Given the description of an element on the screen output the (x, y) to click on. 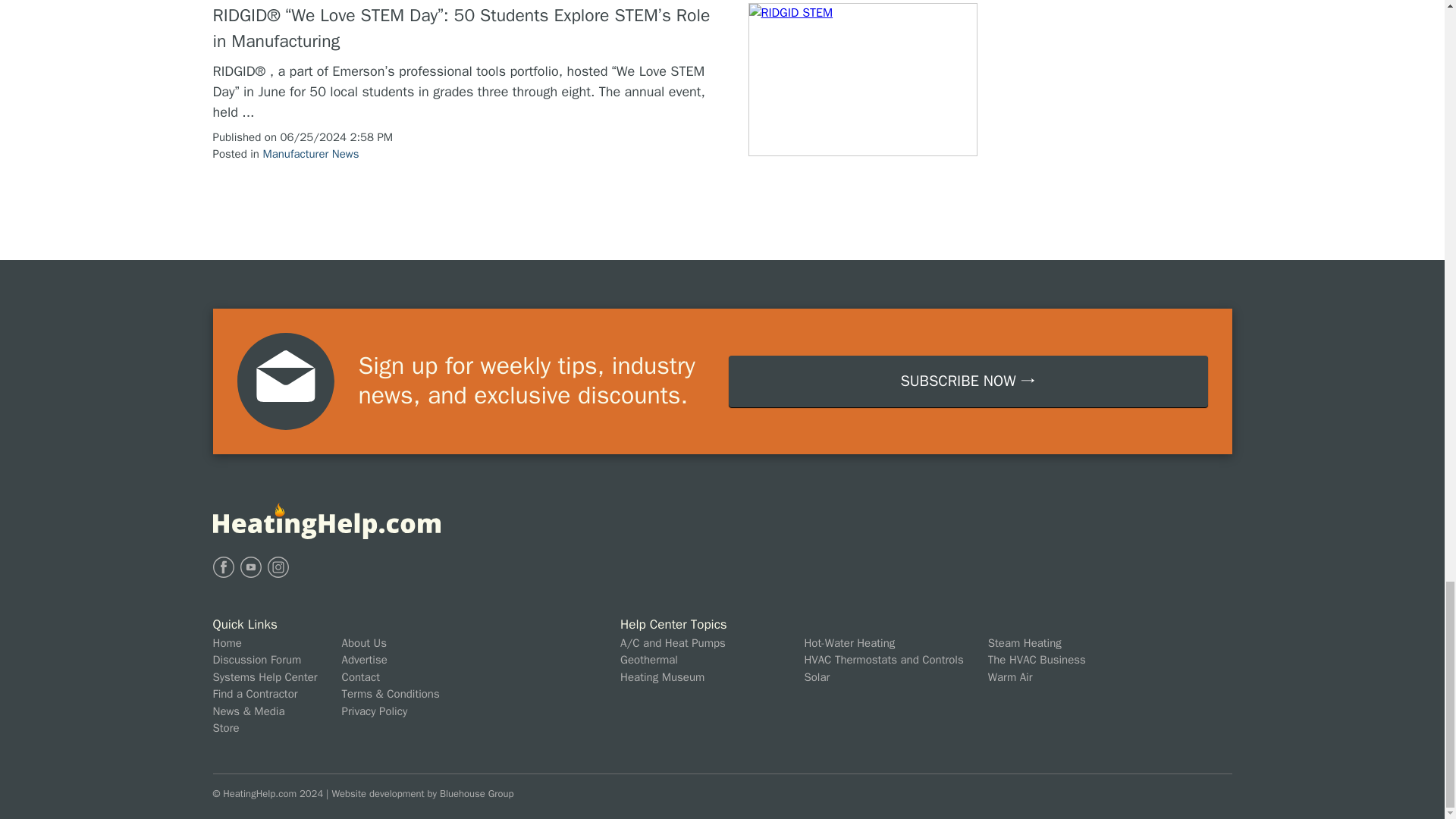
Manufacturer News (310, 153)
